Given the description of an element on the screen output the (x, y) to click on. 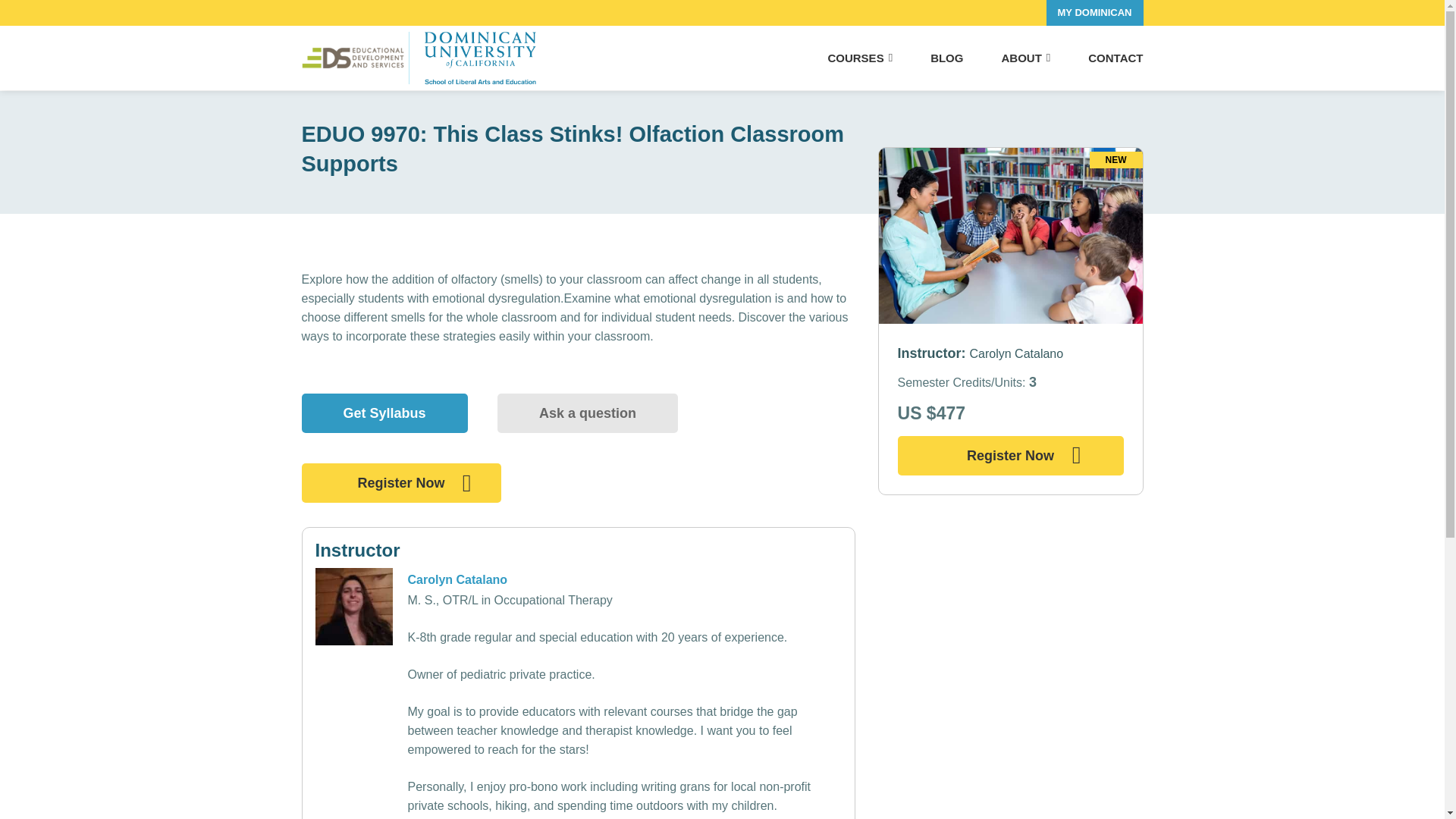
COURSES (859, 57)
MY DOMINICAN (1094, 12)
